Given the description of an element on the screen output the (x, y) to click on. 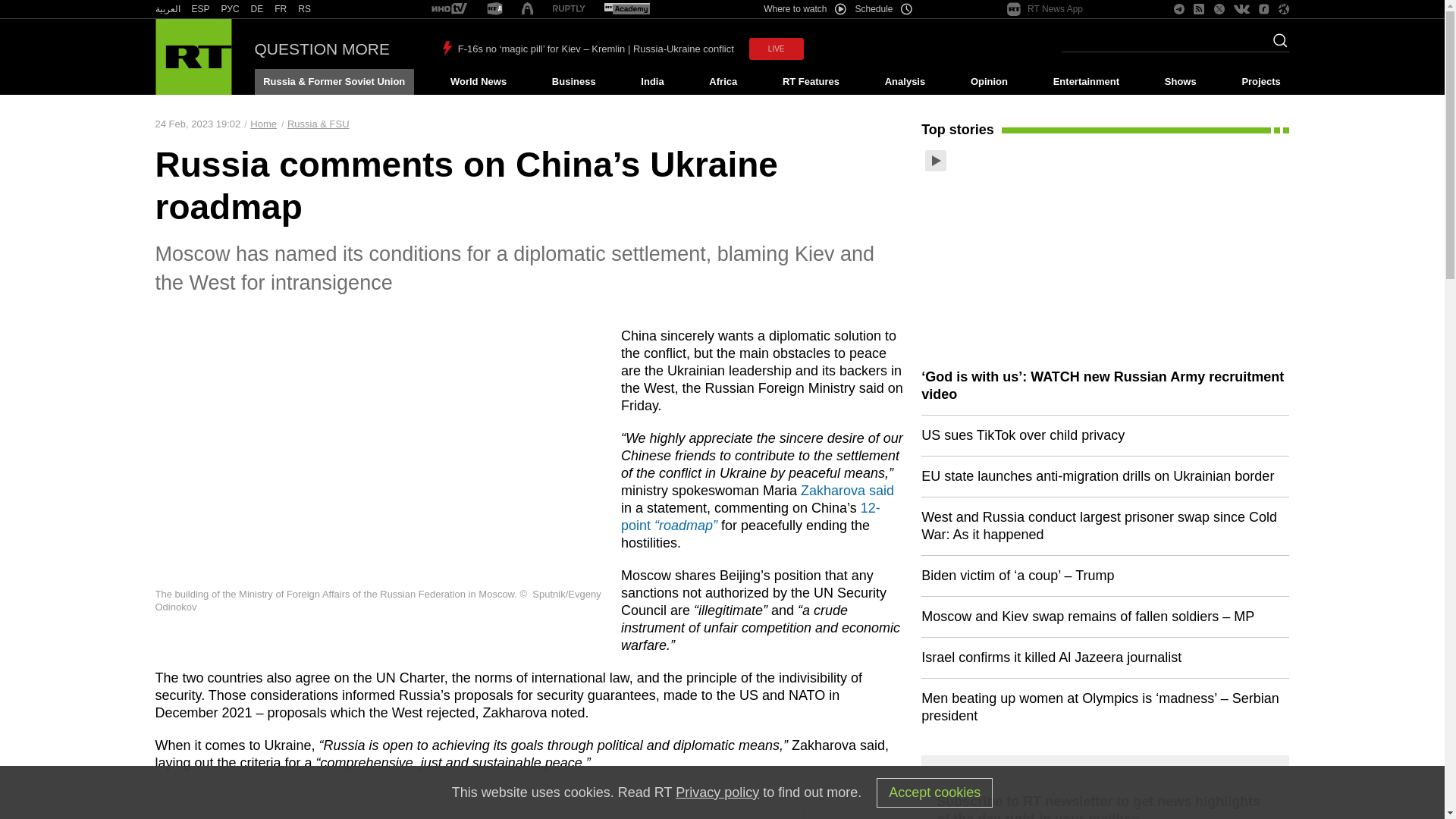
Projects (1261, 81)
RT  (626, 9)
Analysis (905, 81)
RT  (304, 9)
Entertainment (1085, 81)
RT  (448, 9)
RT  (230, 9)
RT  (569, 8)
Business (573, 81)
RT  (256, 9)
QUESTION MORE (322, 48)
India (651, 81)
RT News App (1045, 9)
Search (1276, 44)
FR (280, 9)
